Given the description of an element on the screen output the (x, y) to click on. 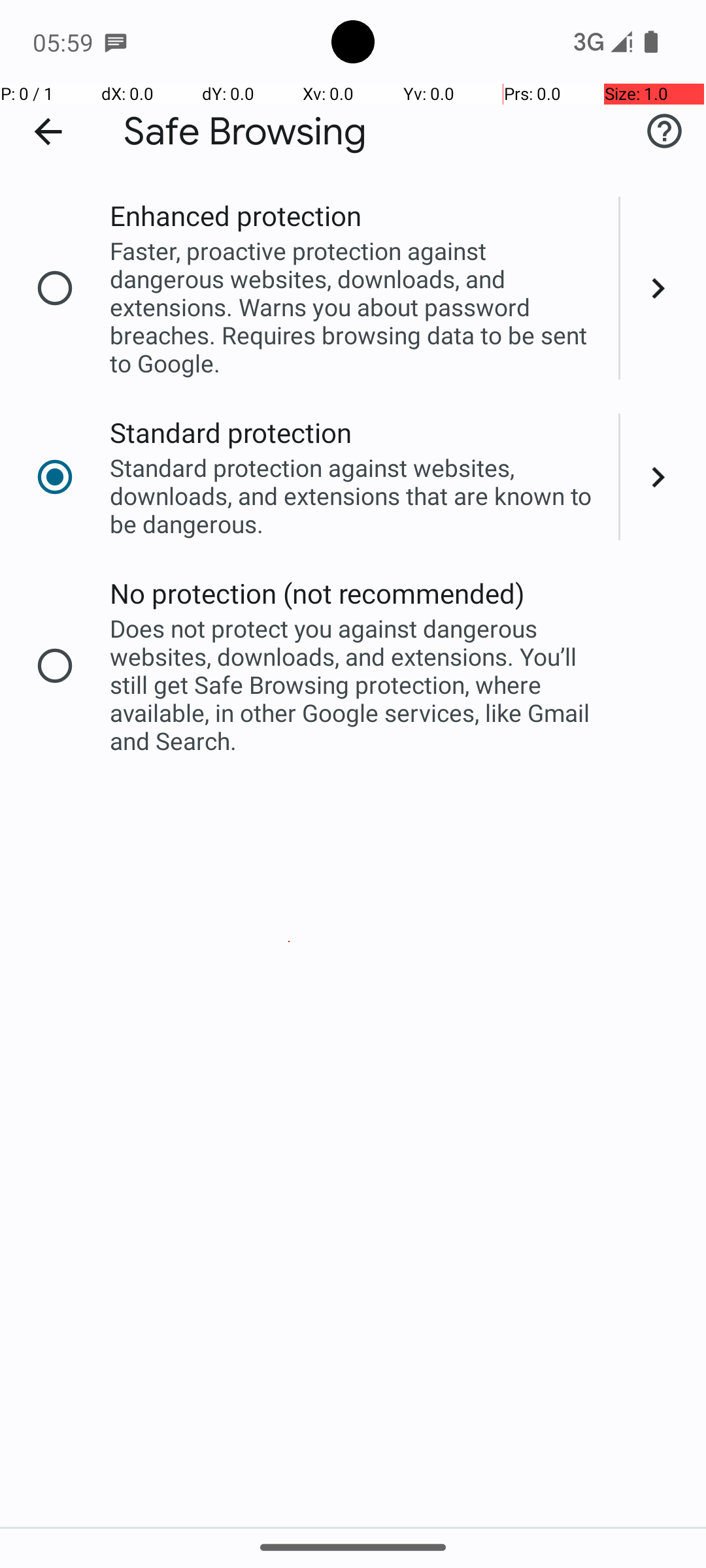
05:59 Element type: android.widget.TextView (64, 41)
